Given the description of an element on the screen output the (x, y) to click on. 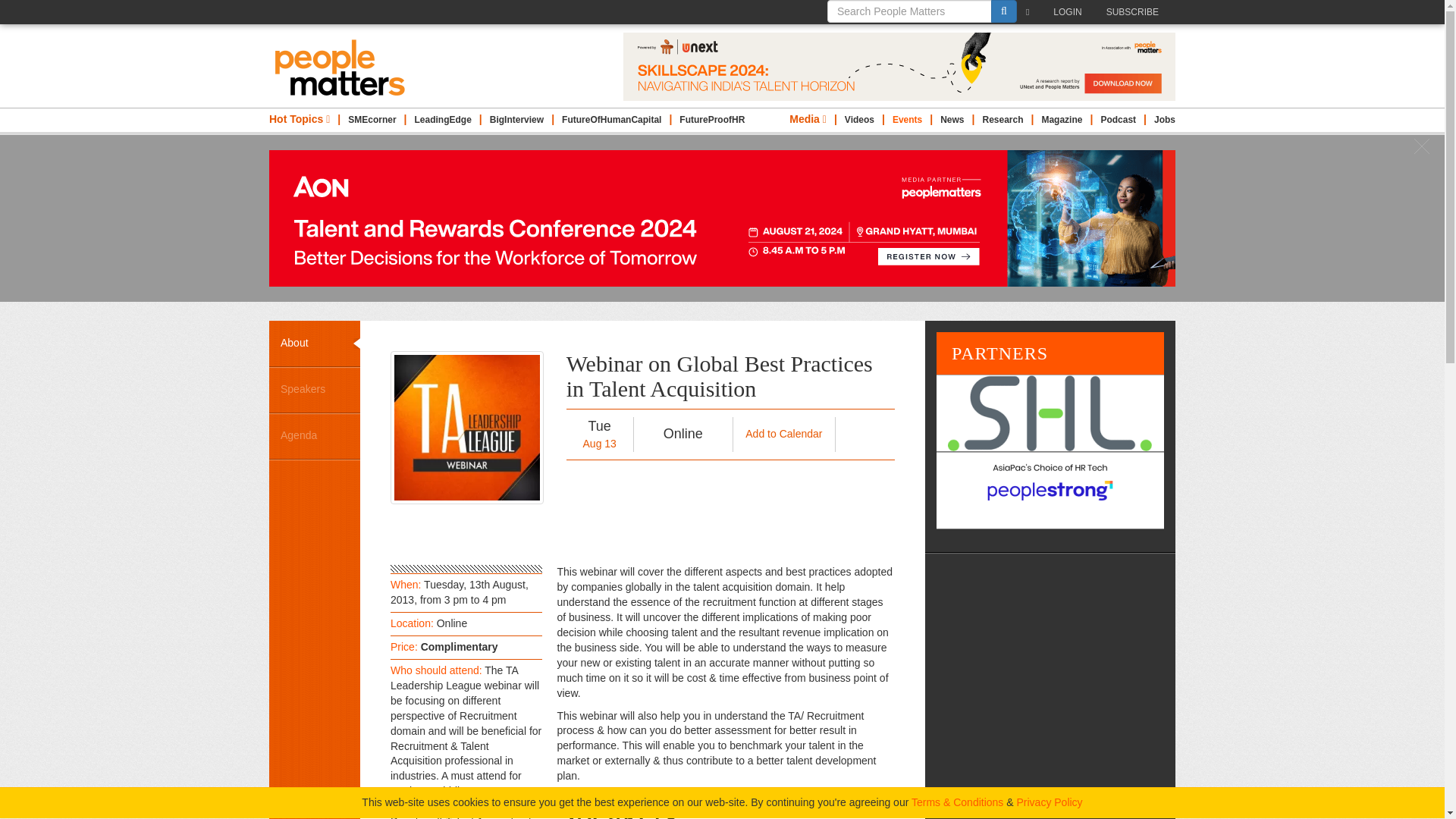
Subscribe to our newsletter (1030, 12)
People Matters (340, 67)
SUBSCRIBE (1136, 12)
People Strong (1050, 490)
News (951, 119)
FutureProofHR (711, 119)
Events (906, 119)
Jobs (1164, 119)
Videos (859, 119)
SMEcorner (371, 119)
